Given the description of an element on the screen output the (x, y) to click on. 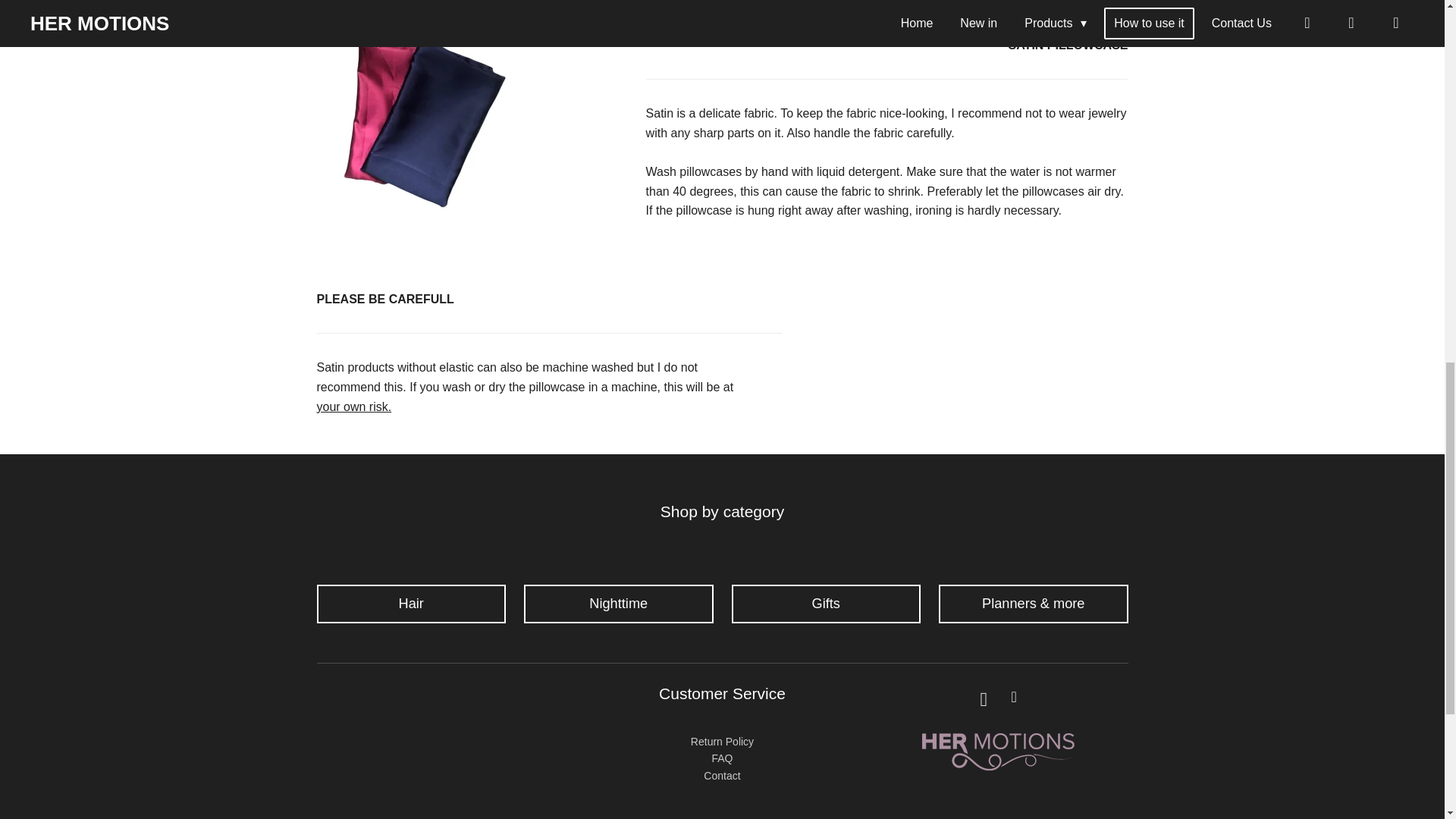
Contact (721, 775)
Return Policy (722, 741)
Hair (411, 603)
Nighttime (618, 603)
Gifts (825, 603)
Nighttime (618, 603)
Planners and more (1033, 603)
Gifts (825, 603)
Hair (411, 603)
